Given the description of an element on the screen output the (x, y) to click on. 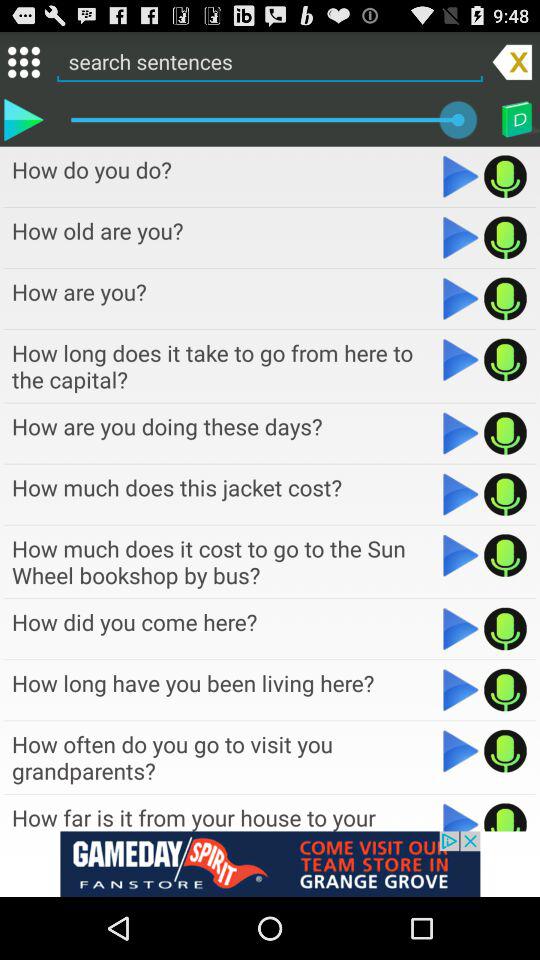
play button (460, 176)
